Given the description of an element on the screen output the (x, y) to click on. 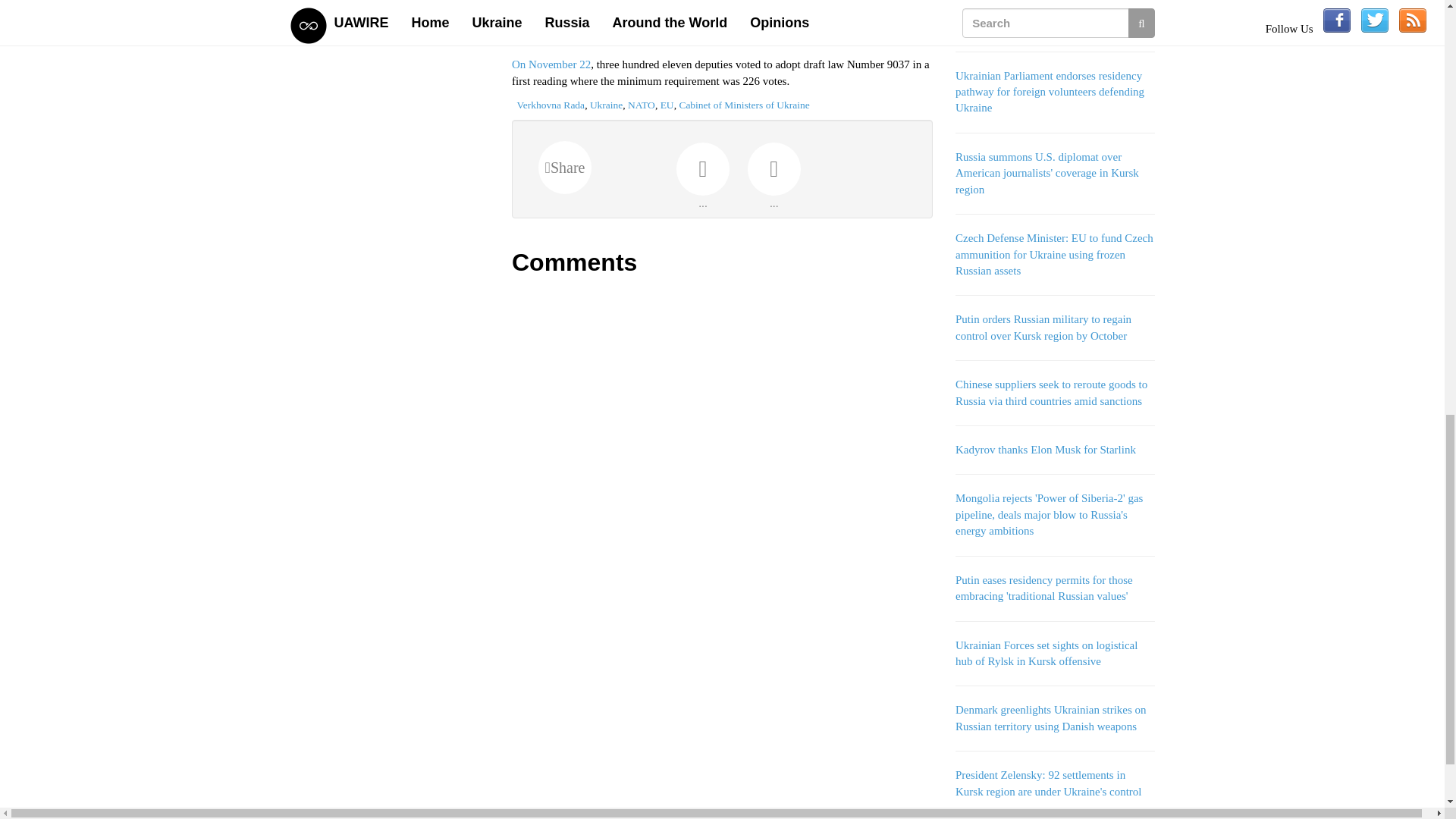
Cabinet of Ministers of Ukraine (743, 104)
On November 22 (551, 64)
Verkhovna Rada (550, 104)
NATO (641, 104)
Ukraine (606, 104)
